Given the description of an element on the screen output the (x, y) to click on. 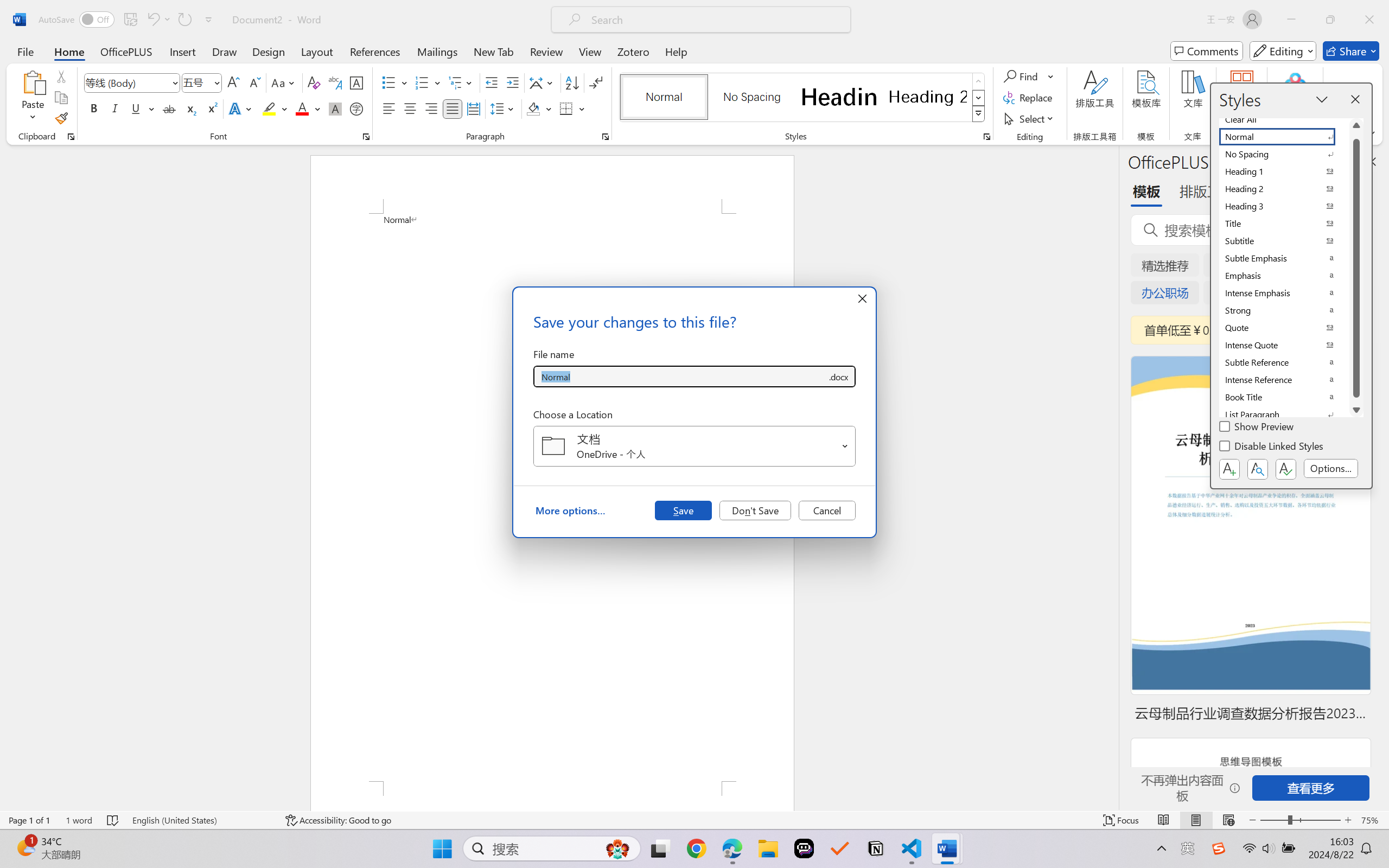
Language English (United States) (201, 819)
Heading 2 (927, 96)
More Options (1051, 75)
Find (1029, 75)
Task Pane Options (1338, 161)
Text Highlight Color Yellow (269, 108)
Align Right (431, 108)
Select (1030, 118)
Draw (224, 51)
Intense Reference (1283, 379)
AutoSave (76, 19)
